Given the description of an element on the screen output the (x, y) to click on. 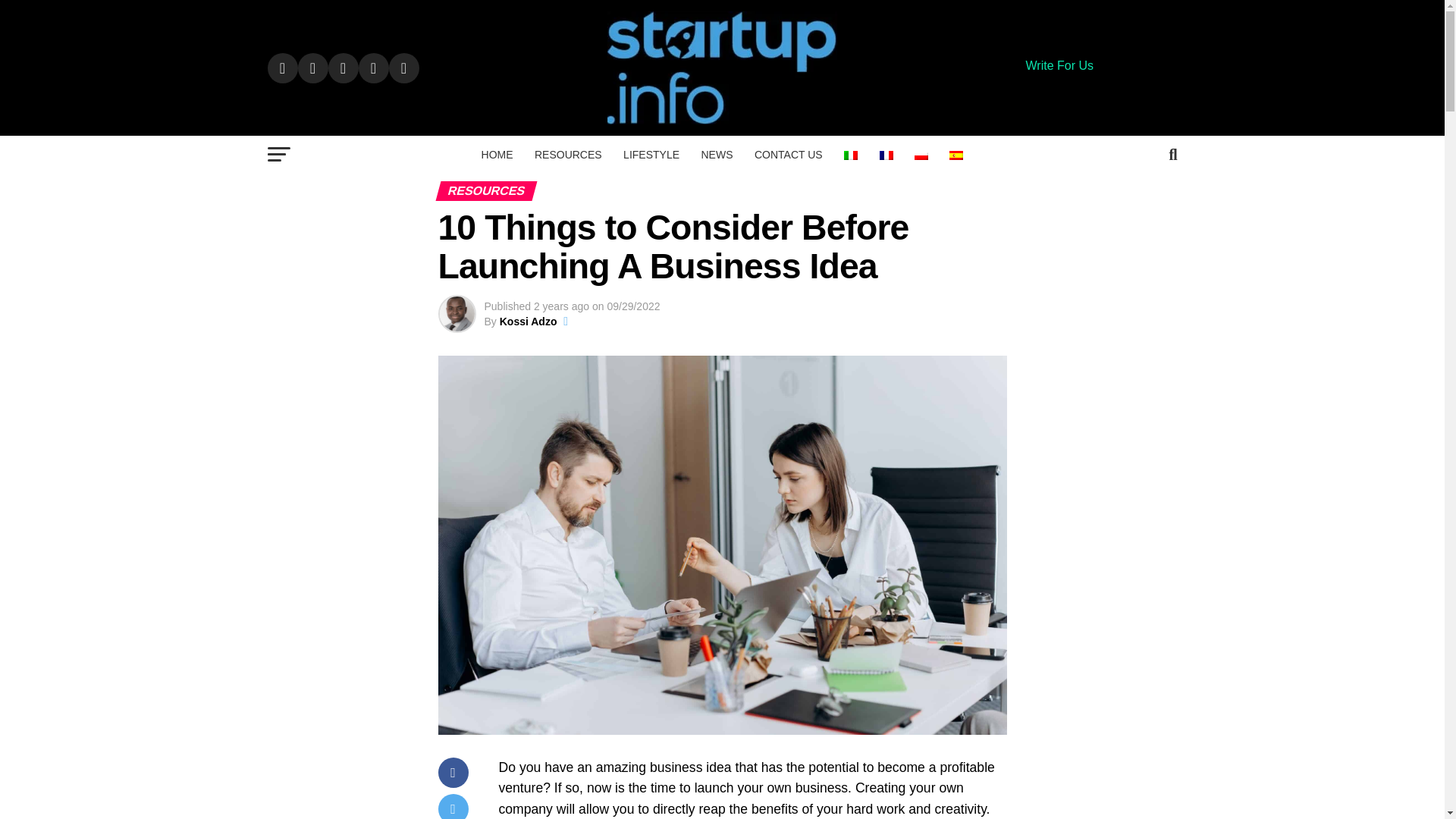
HOME (496, 154)
Posts by Kossi Adzo (528, 321)
Write For Us (1059, 65)
RESOURCES (568, 154)
LIFESTYLE (651, 154)
NEWS (716, 154)
